Given the description of an element on the screen output the (x, y) to click on. 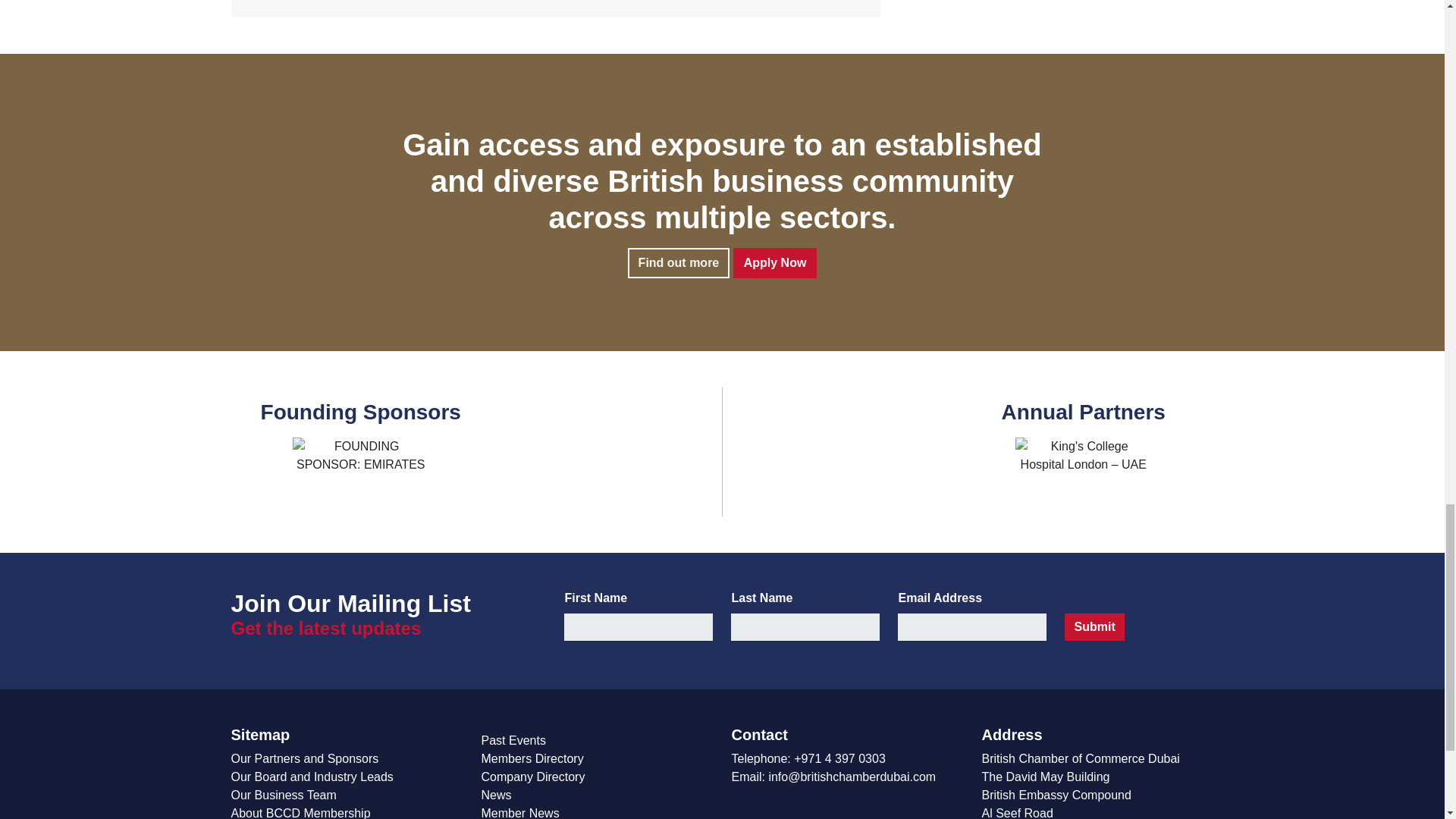
Apply Now (774, 263)
About BCCD Membership (299, 812)
Our Partners and Sponsors (304, 758)
Our Business Team (283, 794)
Our Board and Industry Leads (311, 776)
Find out more (678, 263)
